Given the description of an element on the screen output the (x, y) to click on. 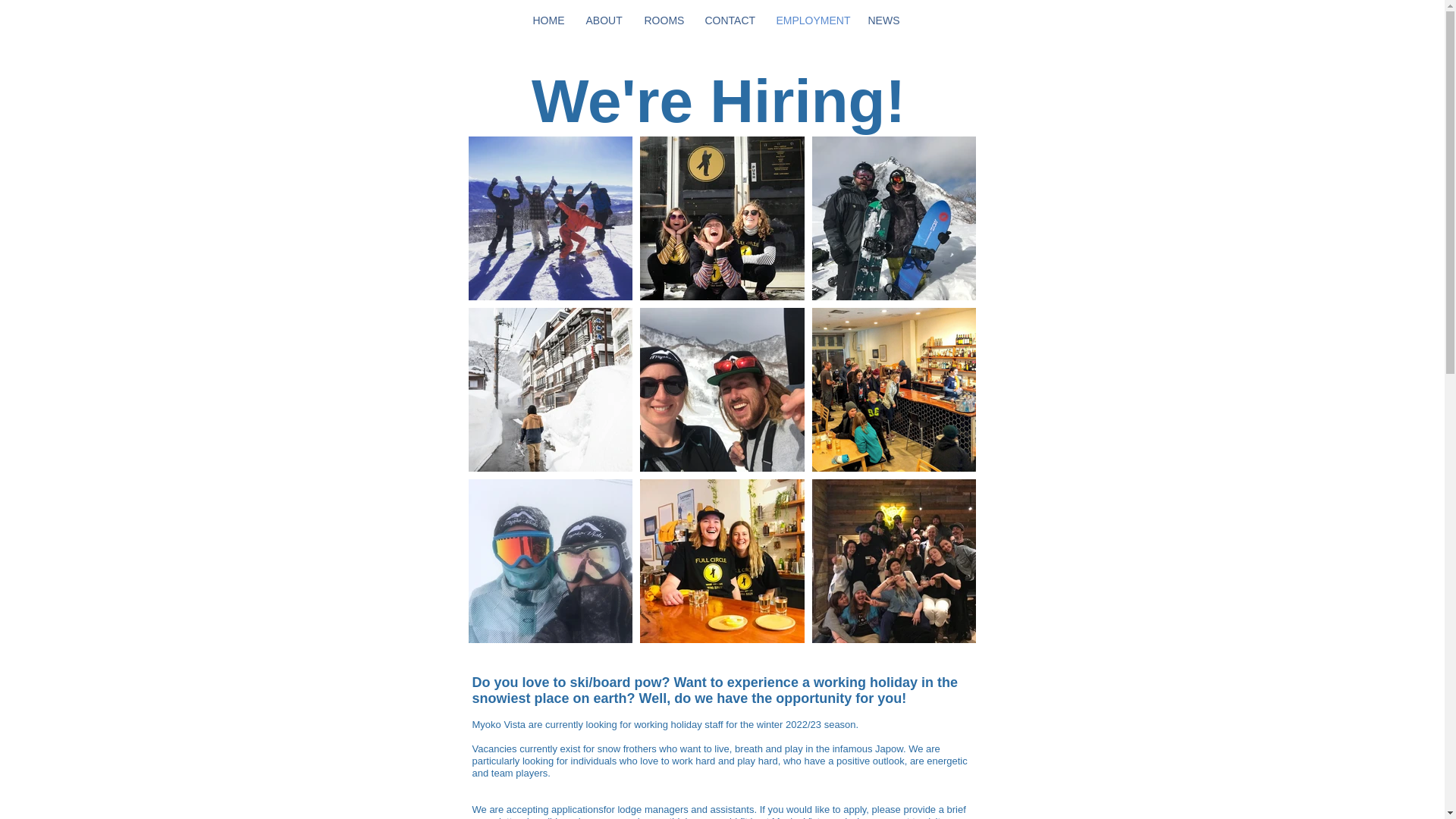
ROOMS (662, 20)
HOME (548, 20)
ABOUT (604, 20)
EMPLOYMENT (810, 20)
NEWS (882, 20)
CONTACT (728, 20)
